Given the description of an element on the screen output the (x, y) to click on. 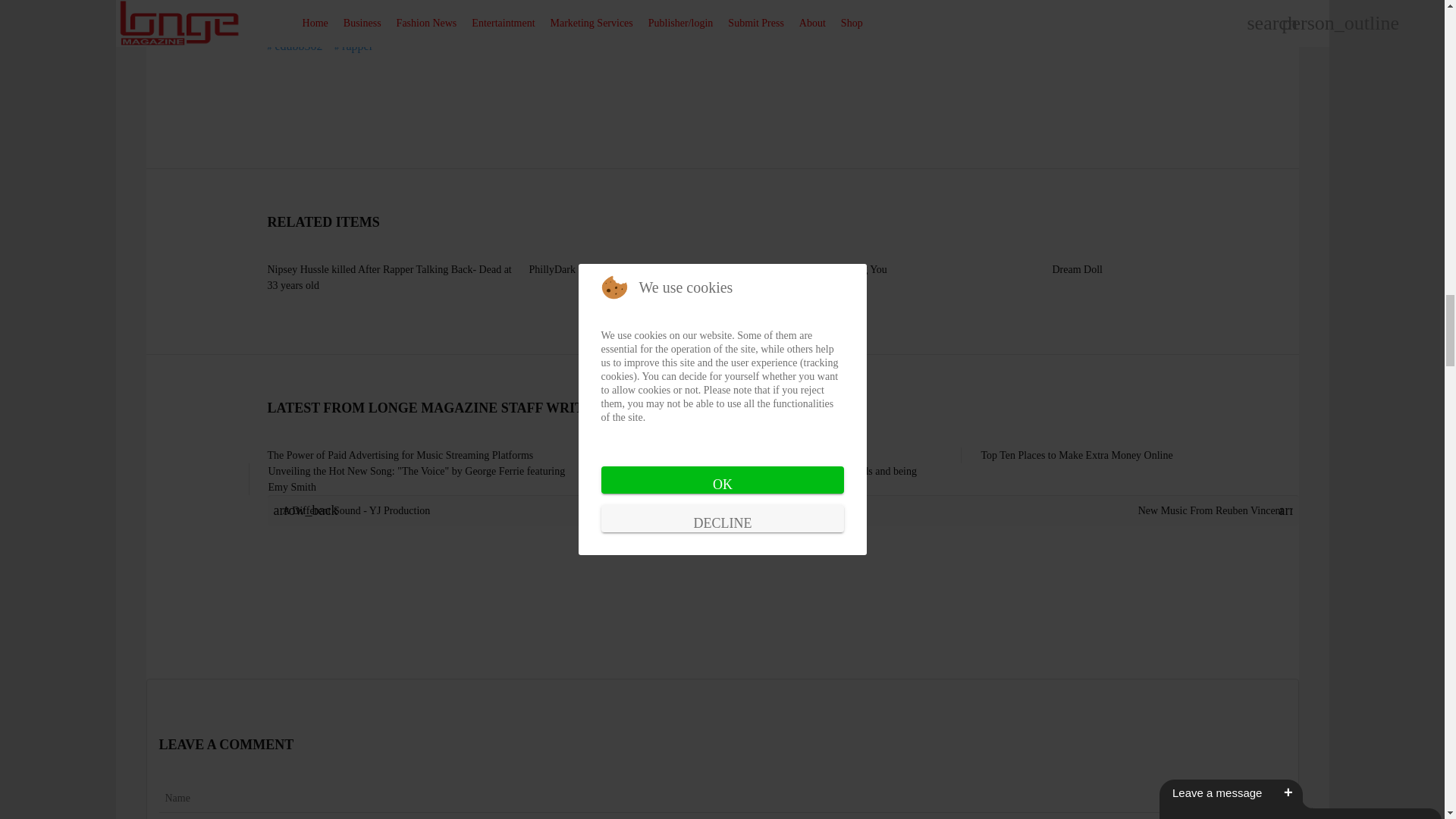
Name (721, 798)
